Given the description of an element on the screen output the (x, y) to click on. 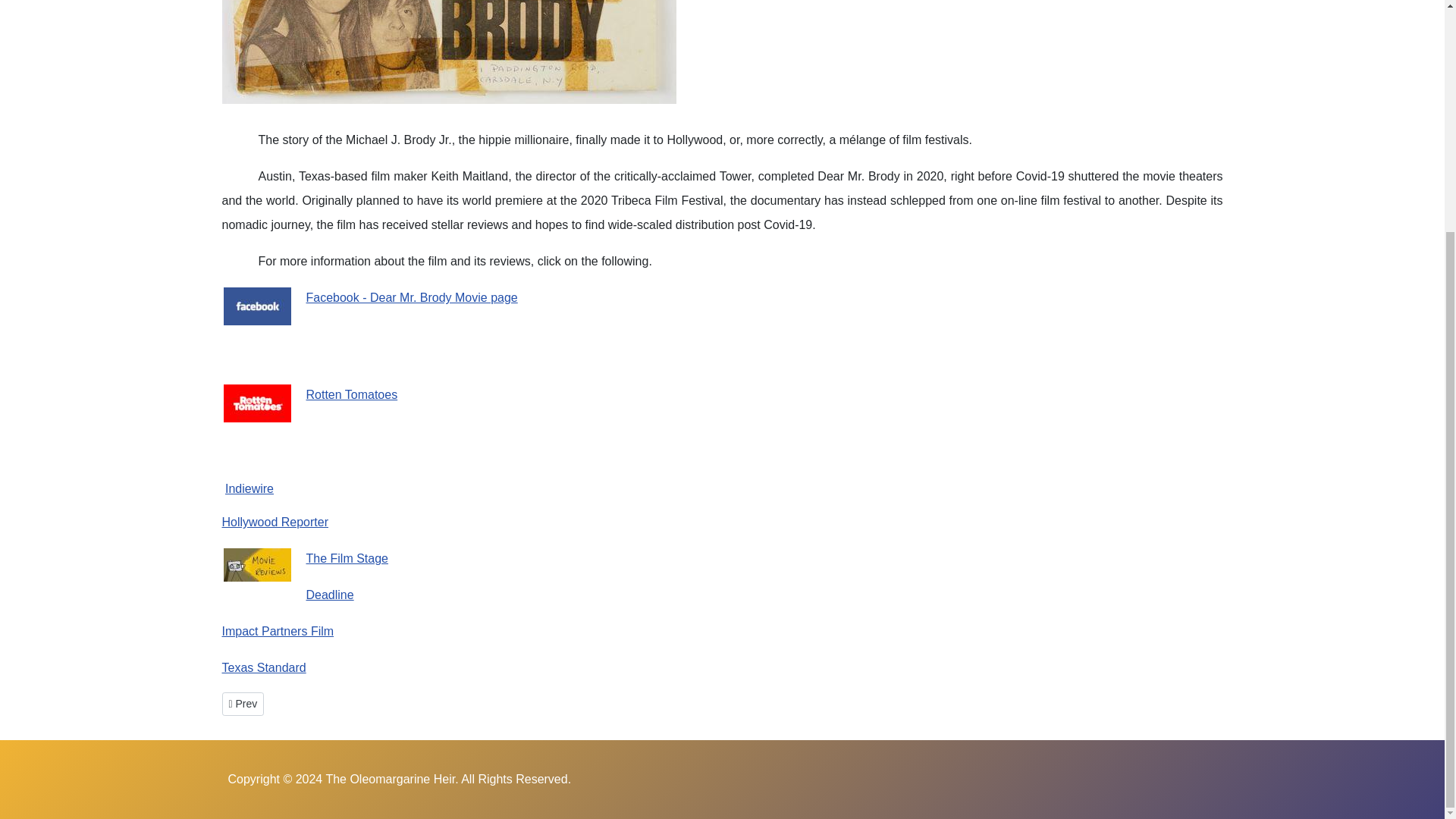
Hollywood Reporter (275, 521)
Facebook - Dear Mr. Brody Movie page (411, 297)
Rotten Tomatoes (351, 394)
The Film Stage (346, 558)
Impact Partners Film (242, 703)
Texas Standard (277, 631)
Deadline (263, 667)
Indiewire (329, 594)
